Given the description of an element on the screen output the (x, y) to click on. 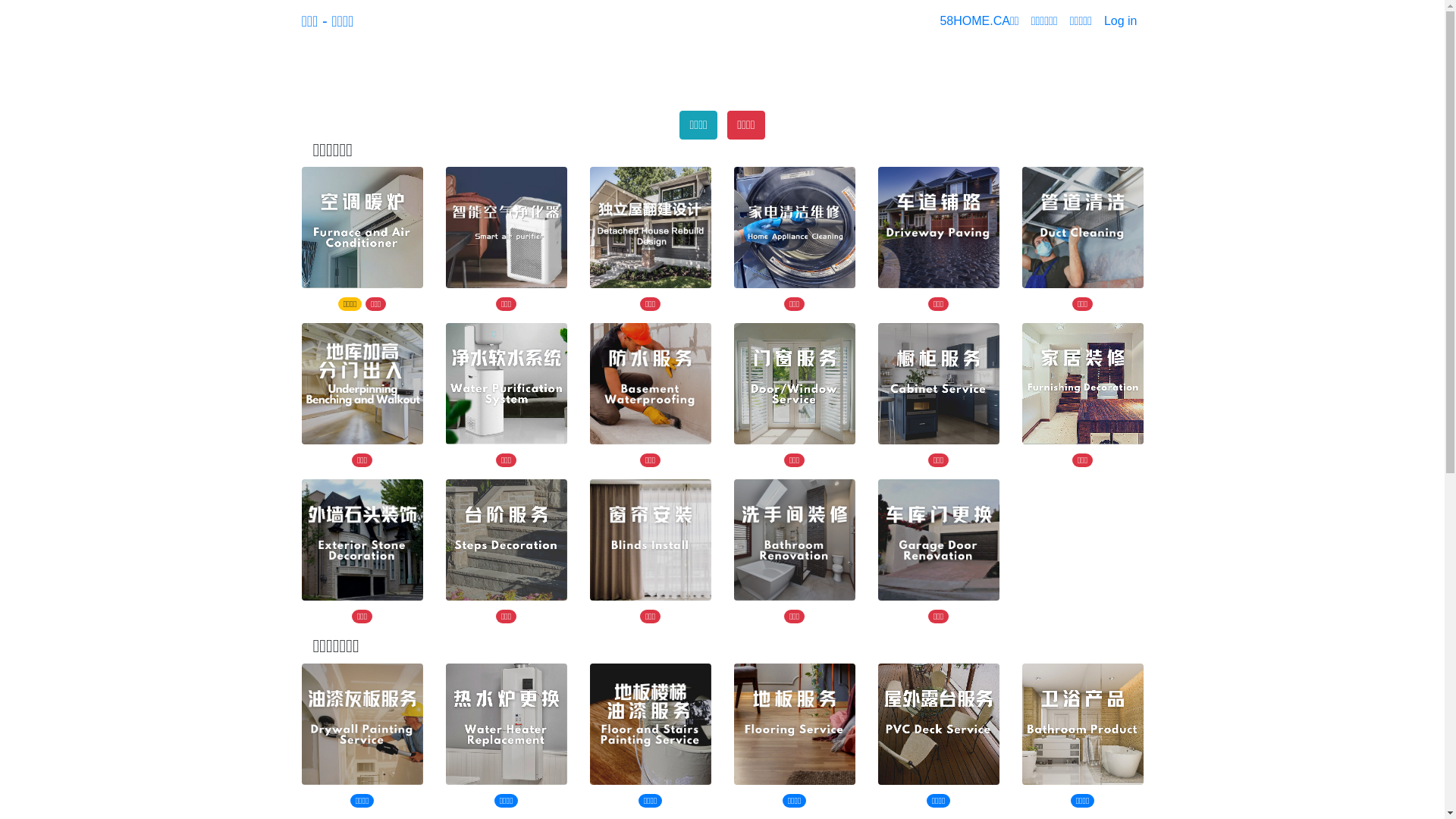
Log in Element type: text (1120, 21)
